Given the description of an element on the screen output the (x, y) to click on. 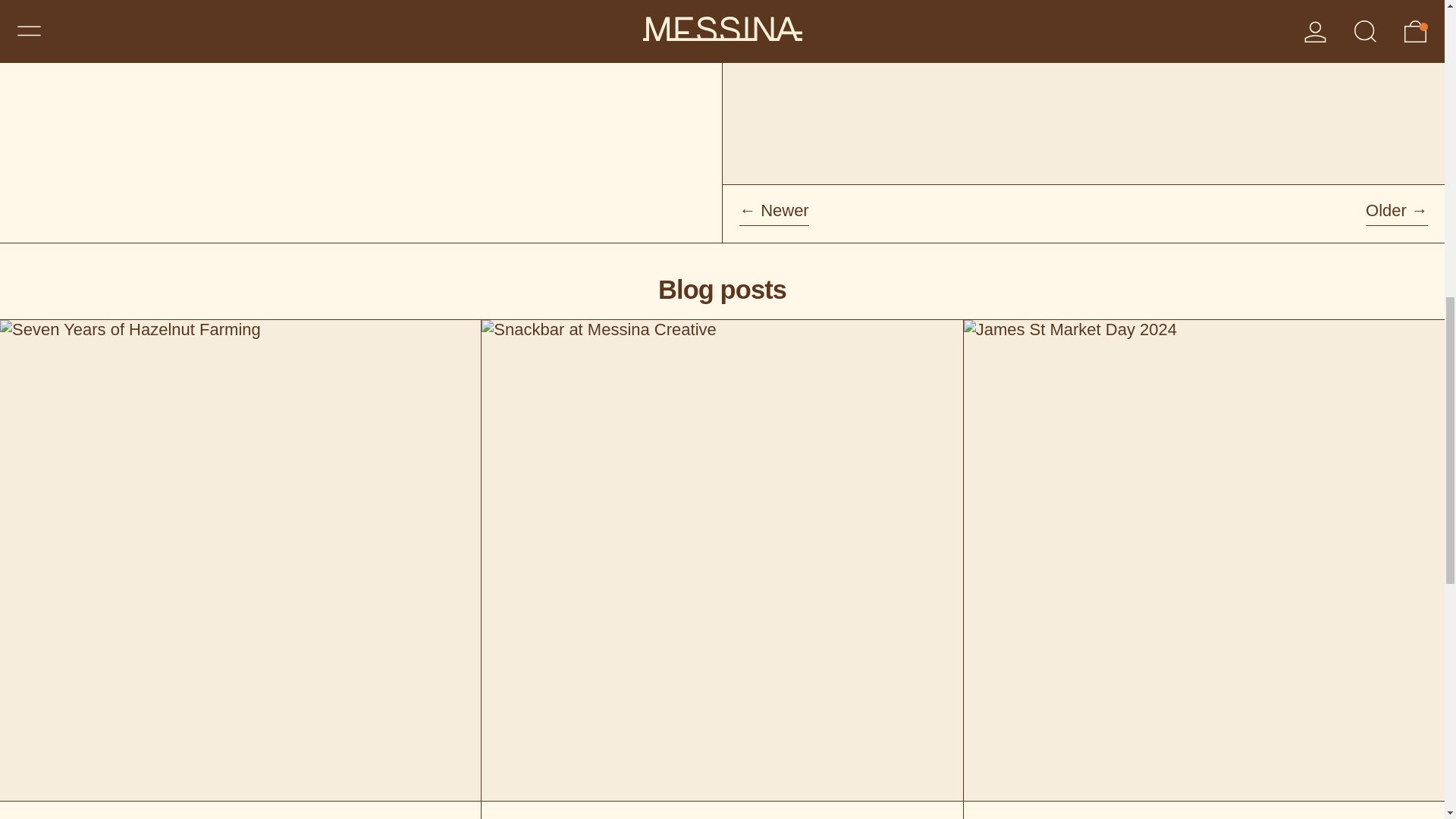
Newer (774, 213)
Newer (774, 213)
Older (1396, 213)
Older (1396, 213)
